Given the description of an element on the screen output the (x, y) to click on. 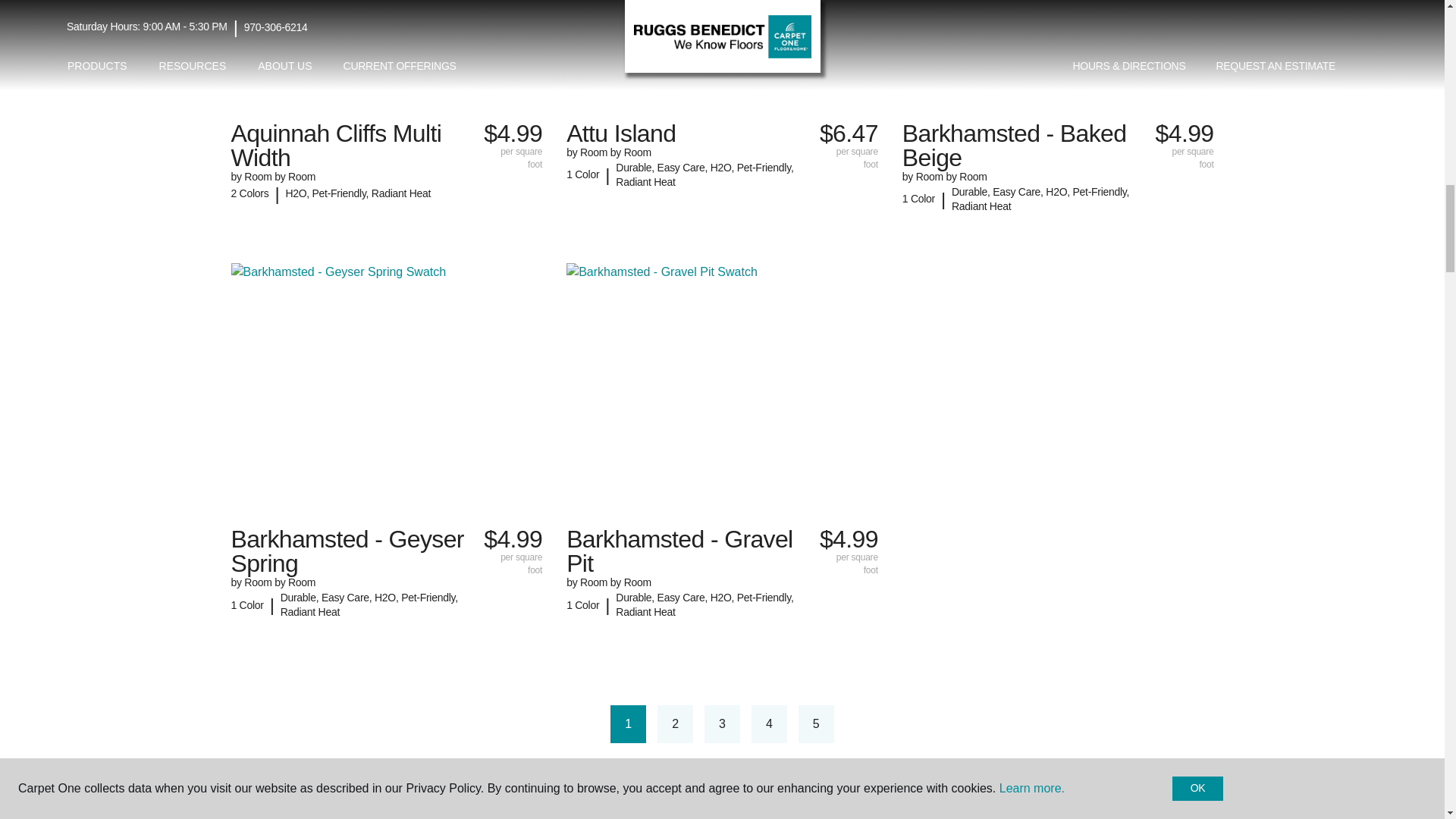
Page 5 (815, 723)
Previous Page (584, 714)
Page 3 (721, 723)
Next Page (860, 714)
Current Page (628, 723)
Page 2 (675, 723)
Page 4 (769, 723)
